Given the description of an element on the screen output the (x, y) to click on. 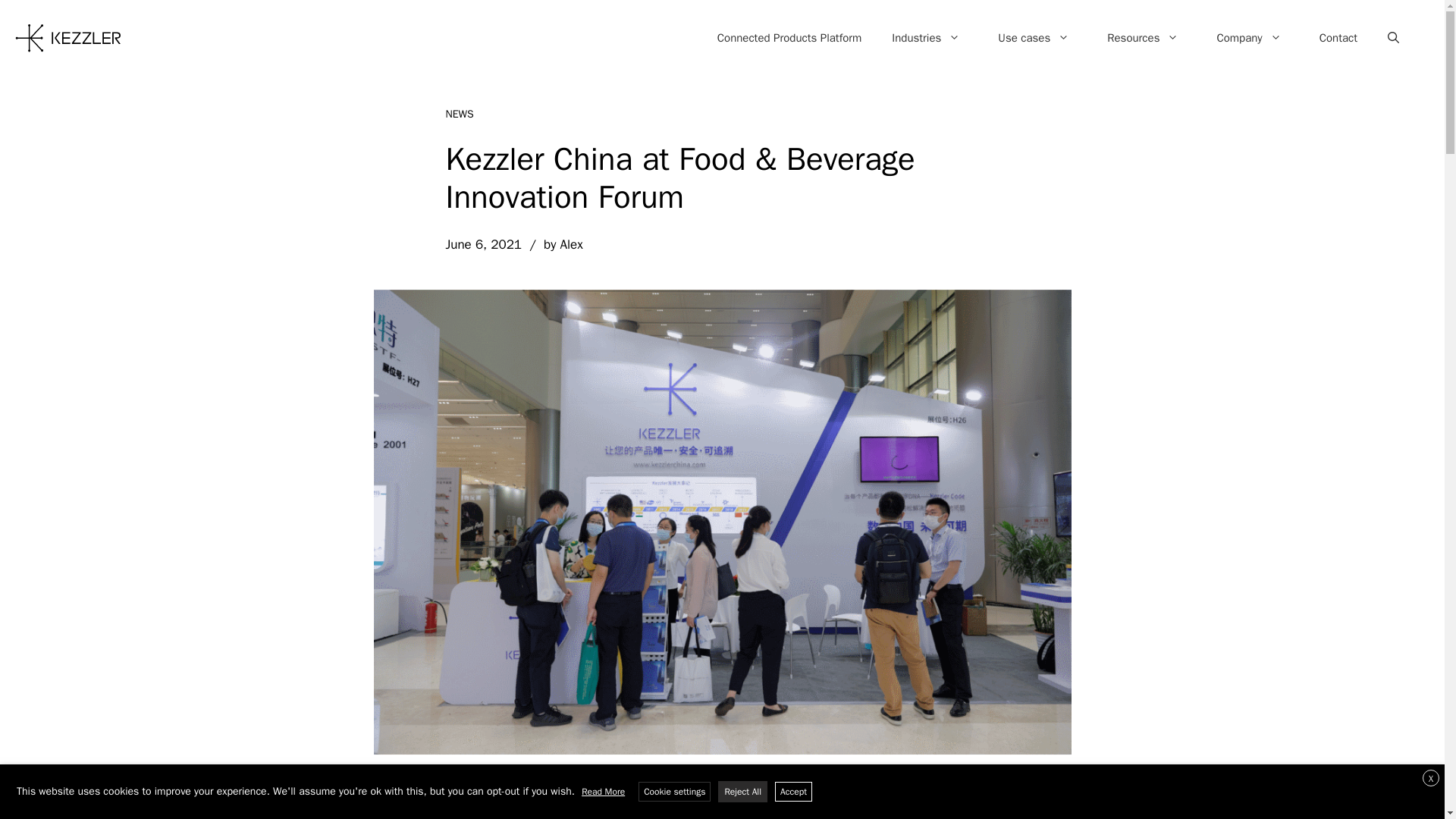
Company (1248, 37)
Industries (925, 37)
NEWS (459, 113)
Resources (1142, 37)
Contact (1338, 37)
Connected Products Platform (789, 37)
Close and Accept (1430, 777)
Use cases (1033, 37)
